Given the description of an element on the screen output the (x, y) to click on. 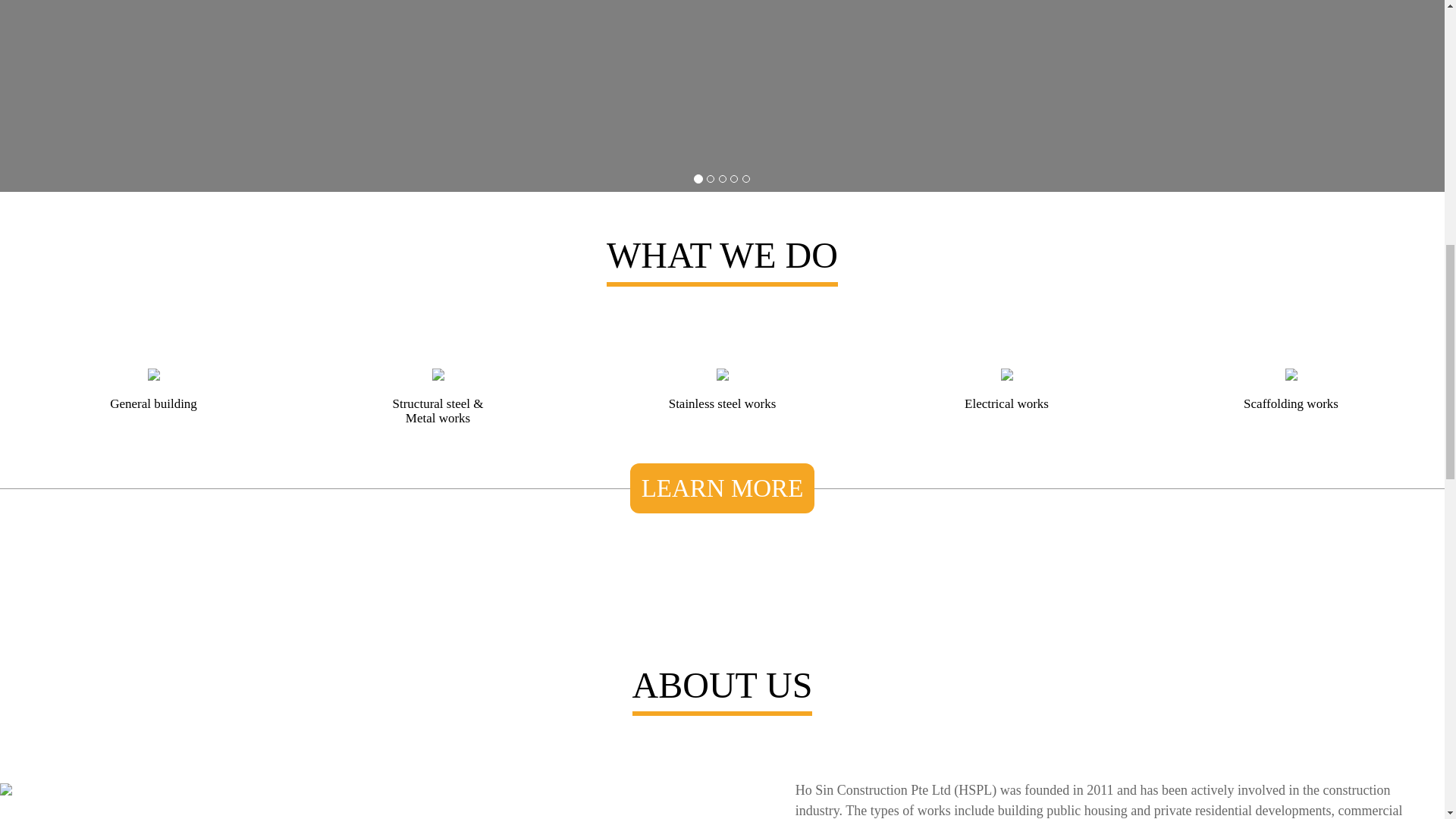
LEARN MORE (722, 488)
